Given the description of an element on the screen output the (x, y) to click on. 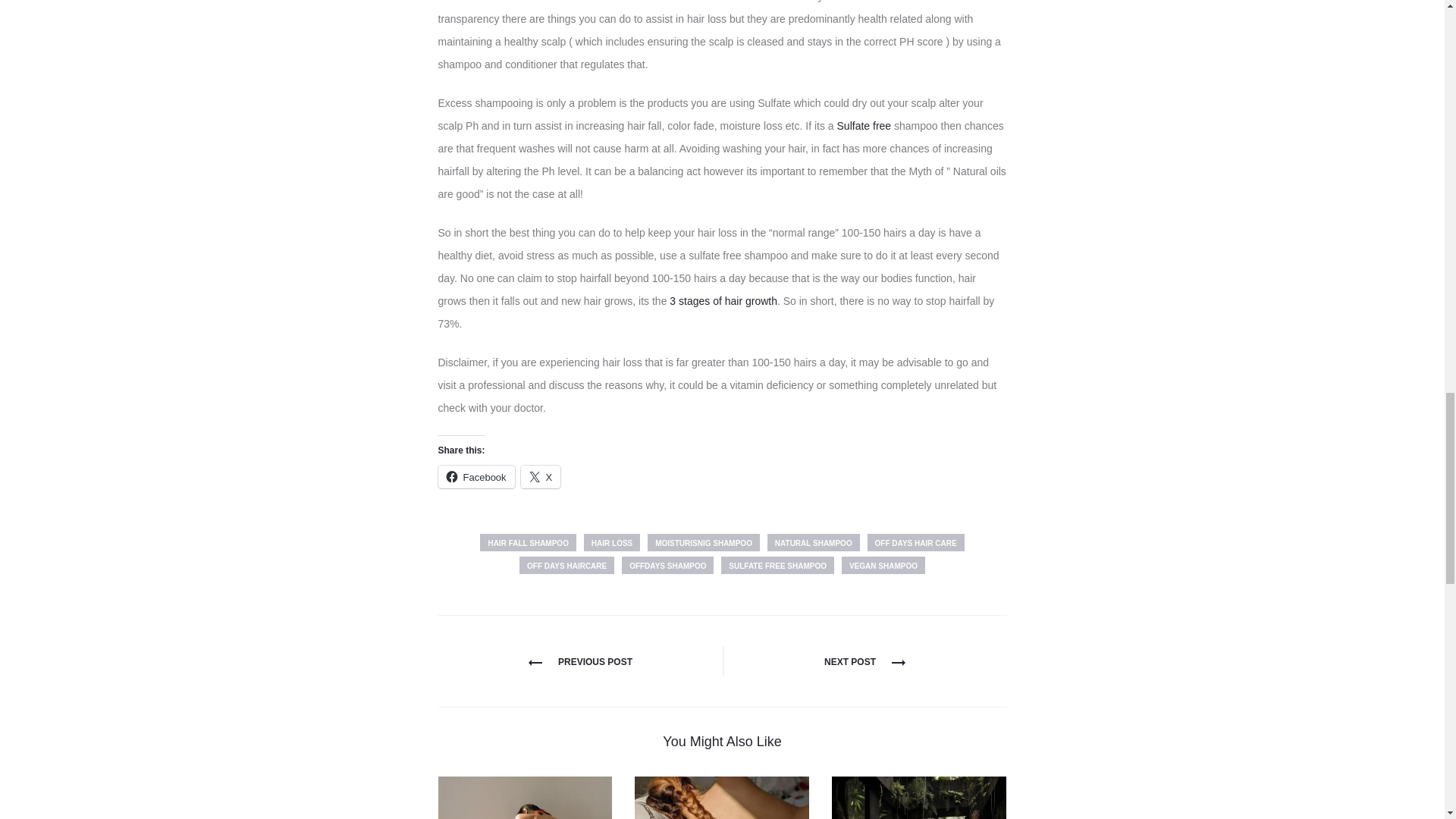
HAIR LOSS (611, 542)
Click to share on X (540, 477)
Facebook (476, 477)
X (540, 477)
OFF DAYS HAIRCARE (566, 565)
HAIR FALL SHAMPOO (527, 542)
OFF DAYS HAIR CARE (915, 542)
VEGAN SHAMPOO (882, 565)
NEXT POST (864, 661)
MOISTURISNIG SHAMPOO (703, 542)
Sulfate free (866, 125)
SULFATE FREE SHAMPOO (777, 565)
3 stages of hair growth (723, 300)
PREVIOUS POST (579, 661)
Click to share on Facebook (476, 477)
